Given the description of an element on the screen output the (x, y) to click on. 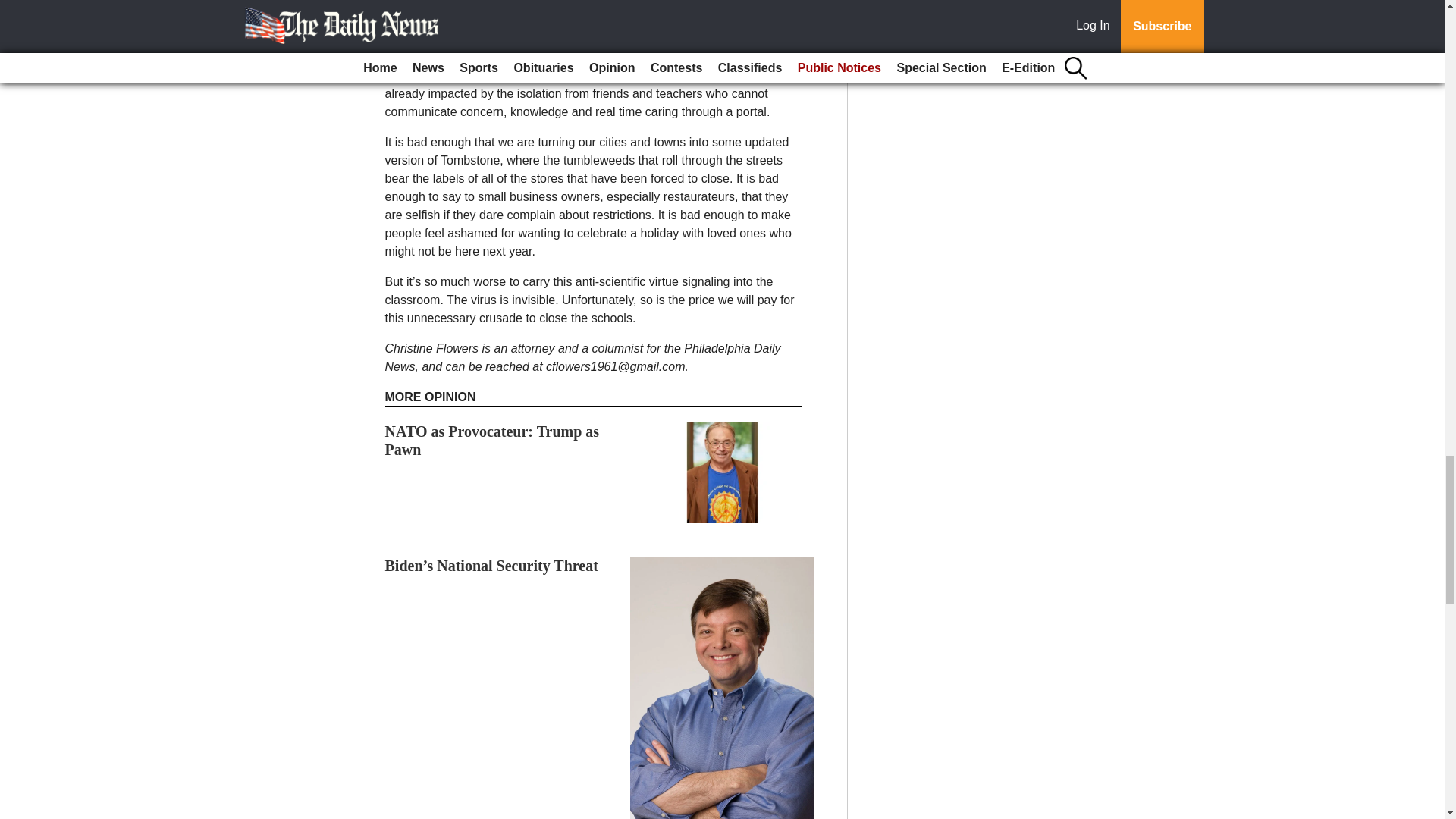
NATO as Provocateur: Trump as Pawn (492, 440)
NATO as Provocateur: Trump as Pawn (492, 440)
